Given the description of an element on the screen output the (x, y) to click on. 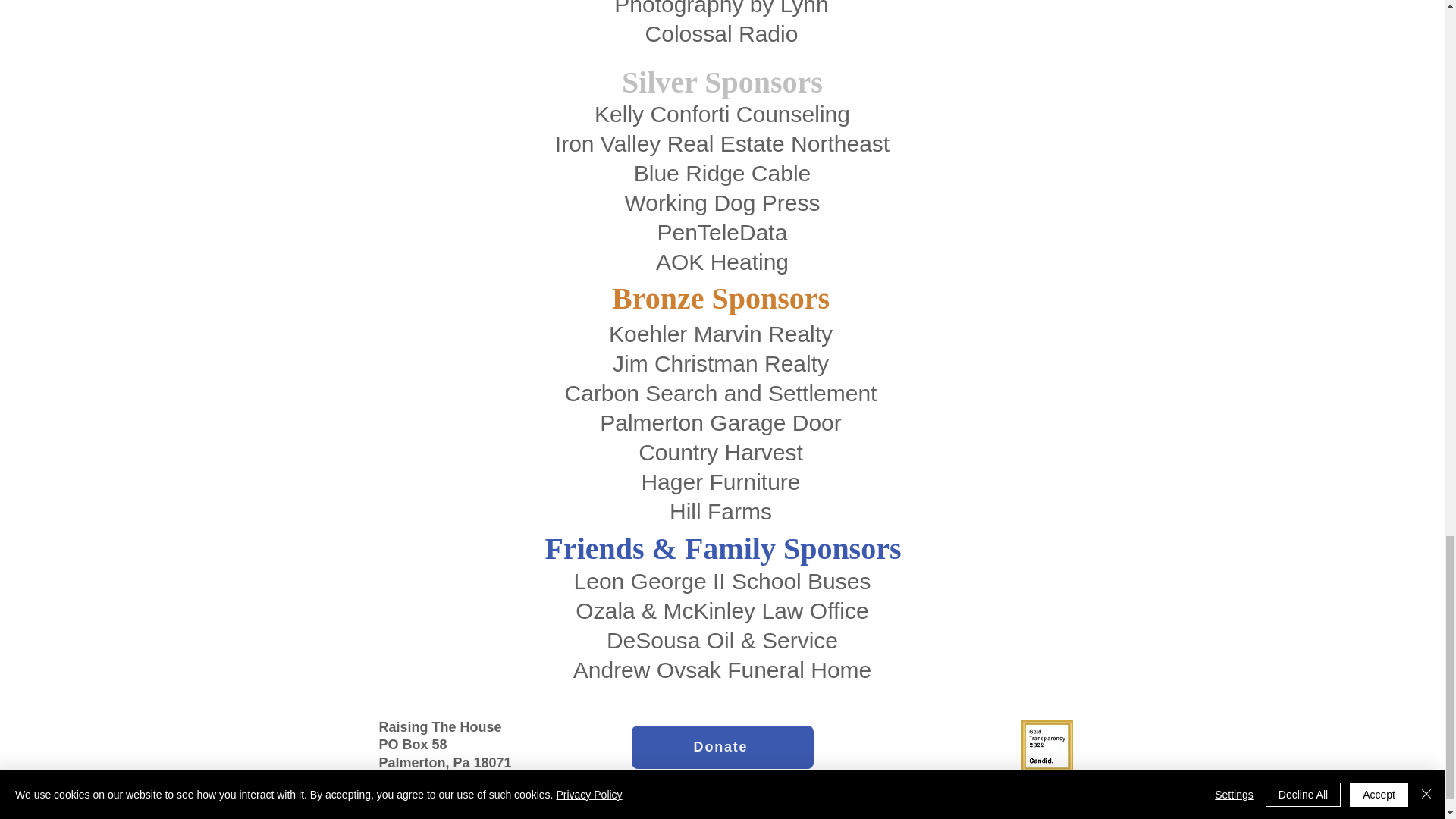
Privacy Policy (627, 815)
Do Not Sell My Personal Information (751, 815)
Donate (721, 747)
